Given the description of an element on the screen output the (x, y) to click on. 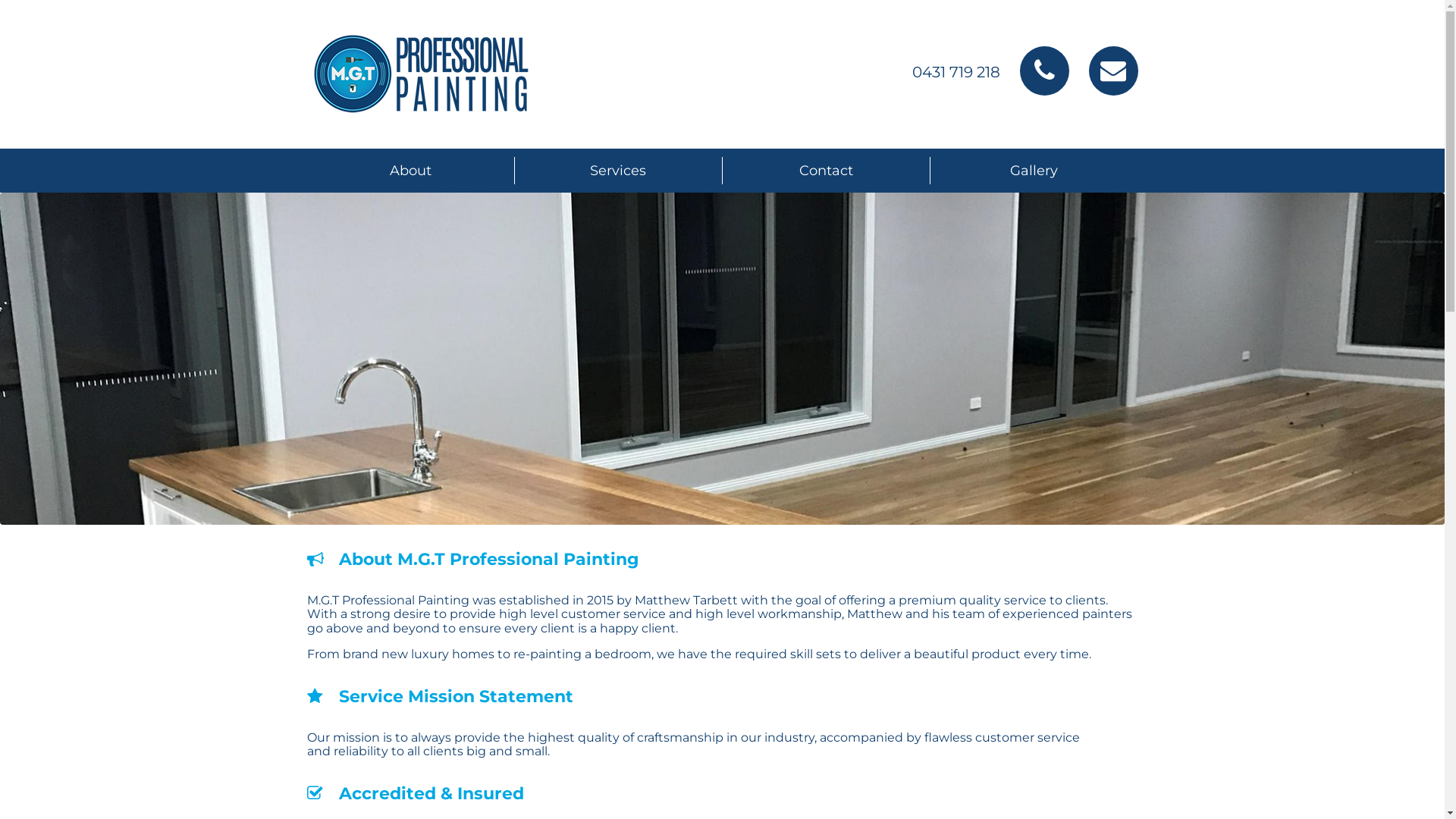
Gallery Element type: text (1033, 170)
Services Element type: text (617, 170)
Contact Element type: text (825, 170)
0431 719 218 Element type: text (955, 71)
About Element type: text (410, 170)
